Given the description of an element on the screen output the (x, y) to click on. 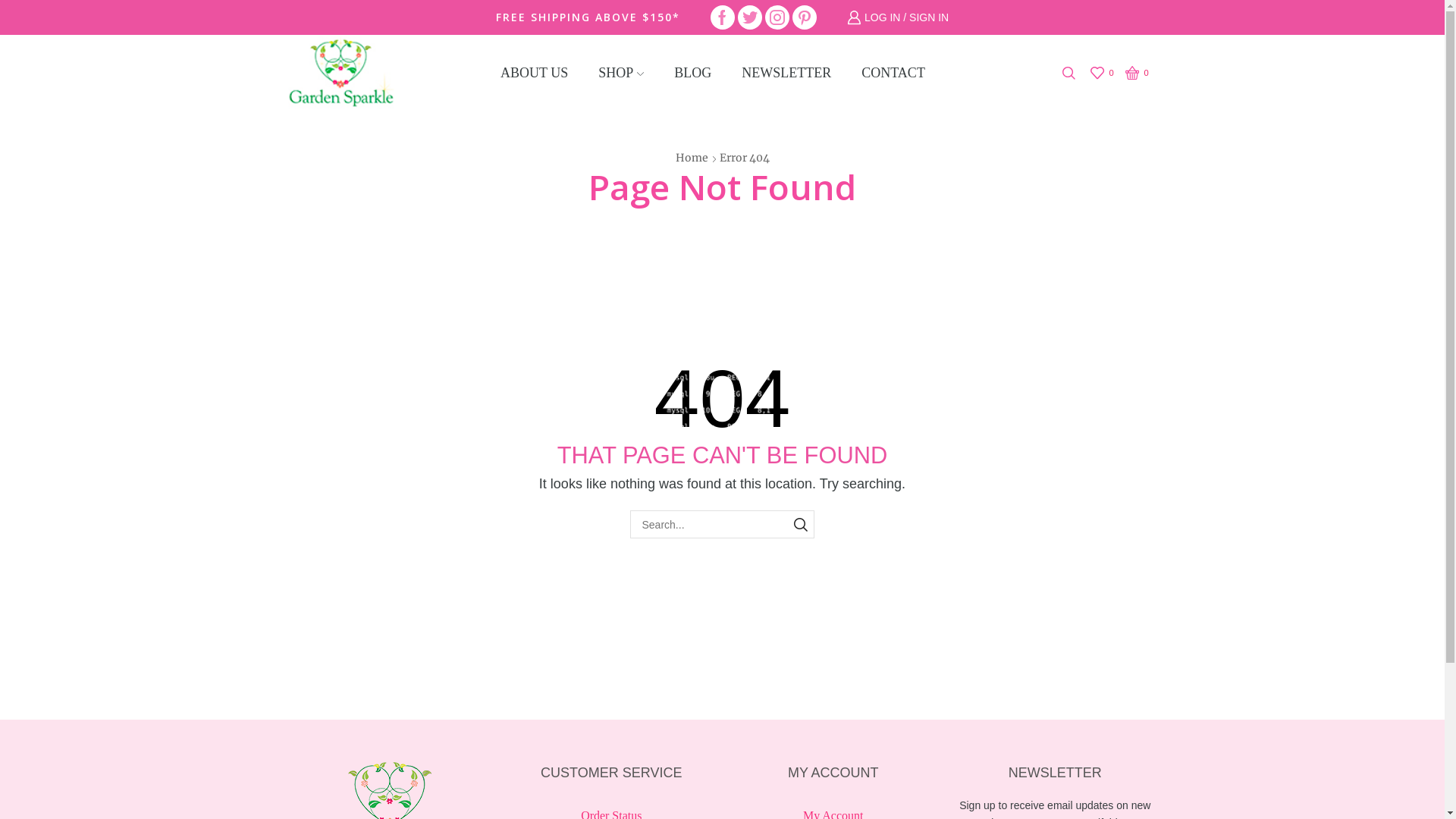
Log in Element type: text (802, 279)
SEARCH Element type: text (800, 524)
INSTAGRAM Element type: text (777, 17)
TWITTER Element type: text (749, 17)
ABOUT US Element type: text (533, 72)
FREE SHIPPING ABOVE $150* Element type: text (587, 16)
NEWSLETTER Element type: text (786, 72)
Home Element type: text (691, 157)
0 Element type: text (1103, 72)
SHOP Element type: text (620, 72)
PINTEREST Element type: text (804, 17)
CONTACT Element type: text (892, 72)
FACEBOOK Element type: text (722, 17)
LOG IN / SIGN IN Element type: text (897, 17)
0 Element type: text (1138, 72)
BLOG Element type: text (692, 72)
